Given the description of an element on the screen output the (x, y) to click on. 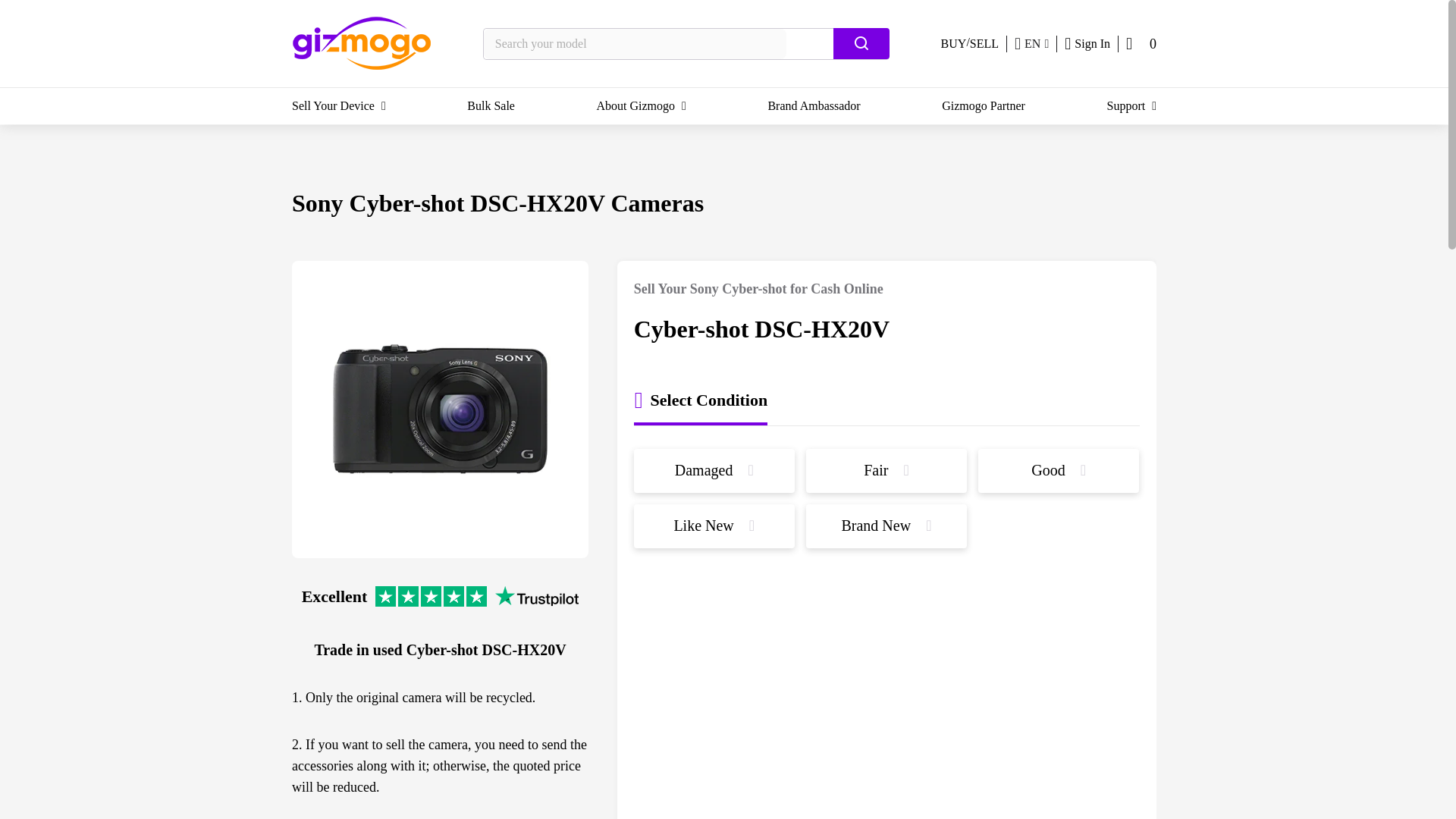
Excellent (440, 585)
Brand Ambassador (813, 105)
Bulk Sale (491, 105)
Gizmogo Partner (983, 105)
